Given the description of an element on the screen output the (x, y) to click on. 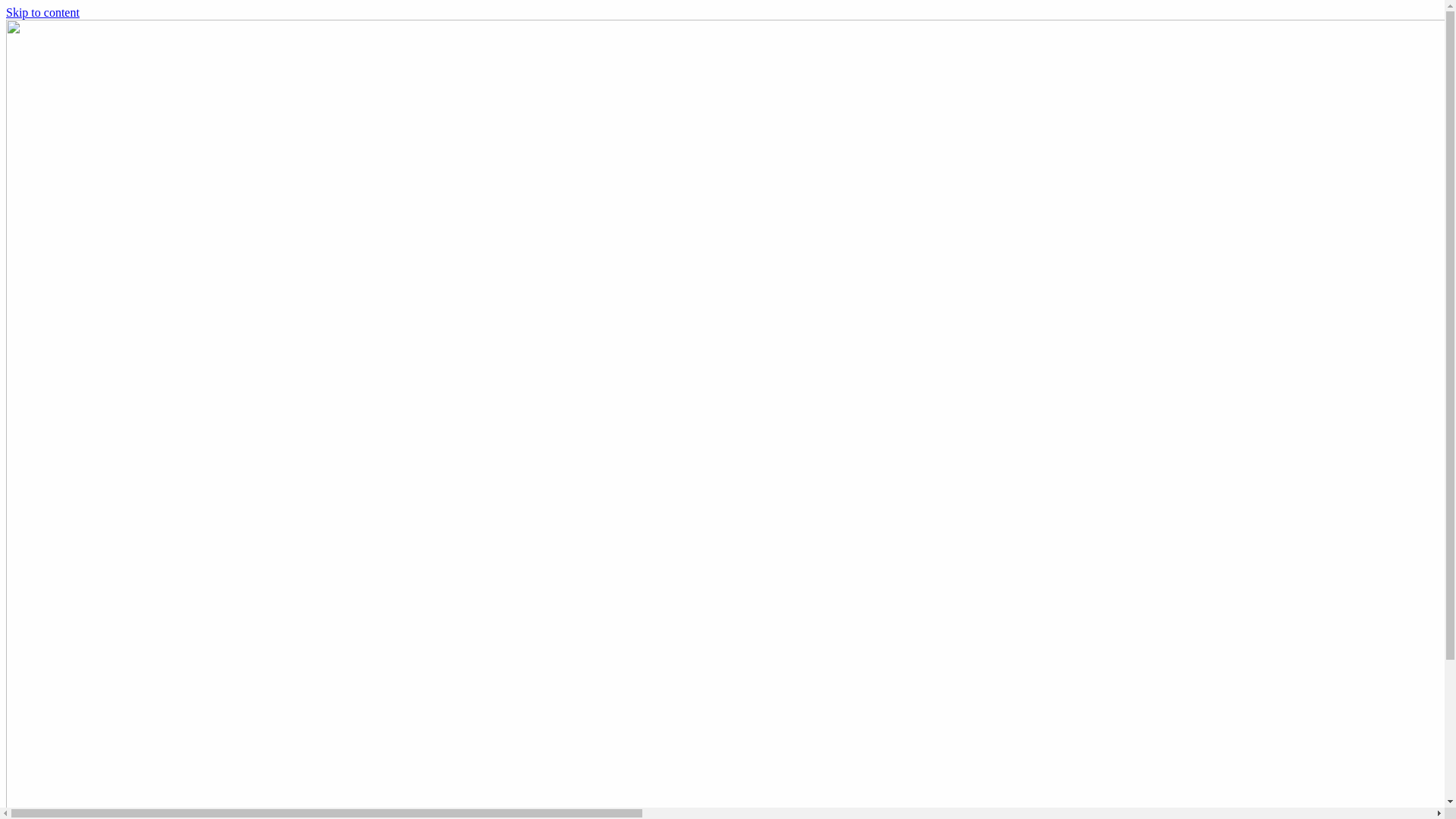
Skip to content Element type: text (42, 12)
